Given the description of an element on the screen output the (x, y) to click on. 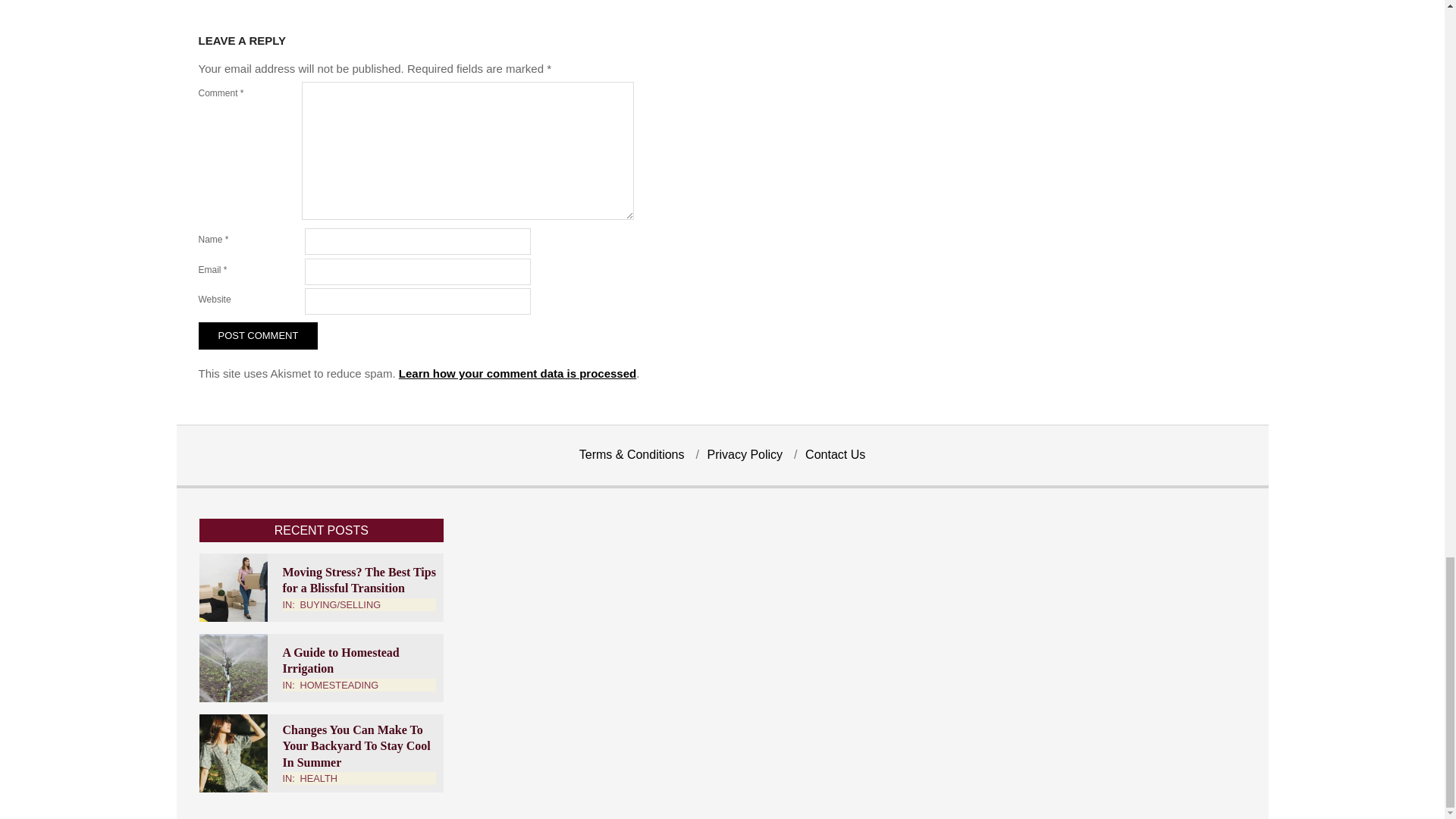
Post Comment (258, 335)
Post Comment (258, 335)
Learn how your comment data is processed (517, 373)
